Given the description of an element on the screen output the (x, y) to click on. 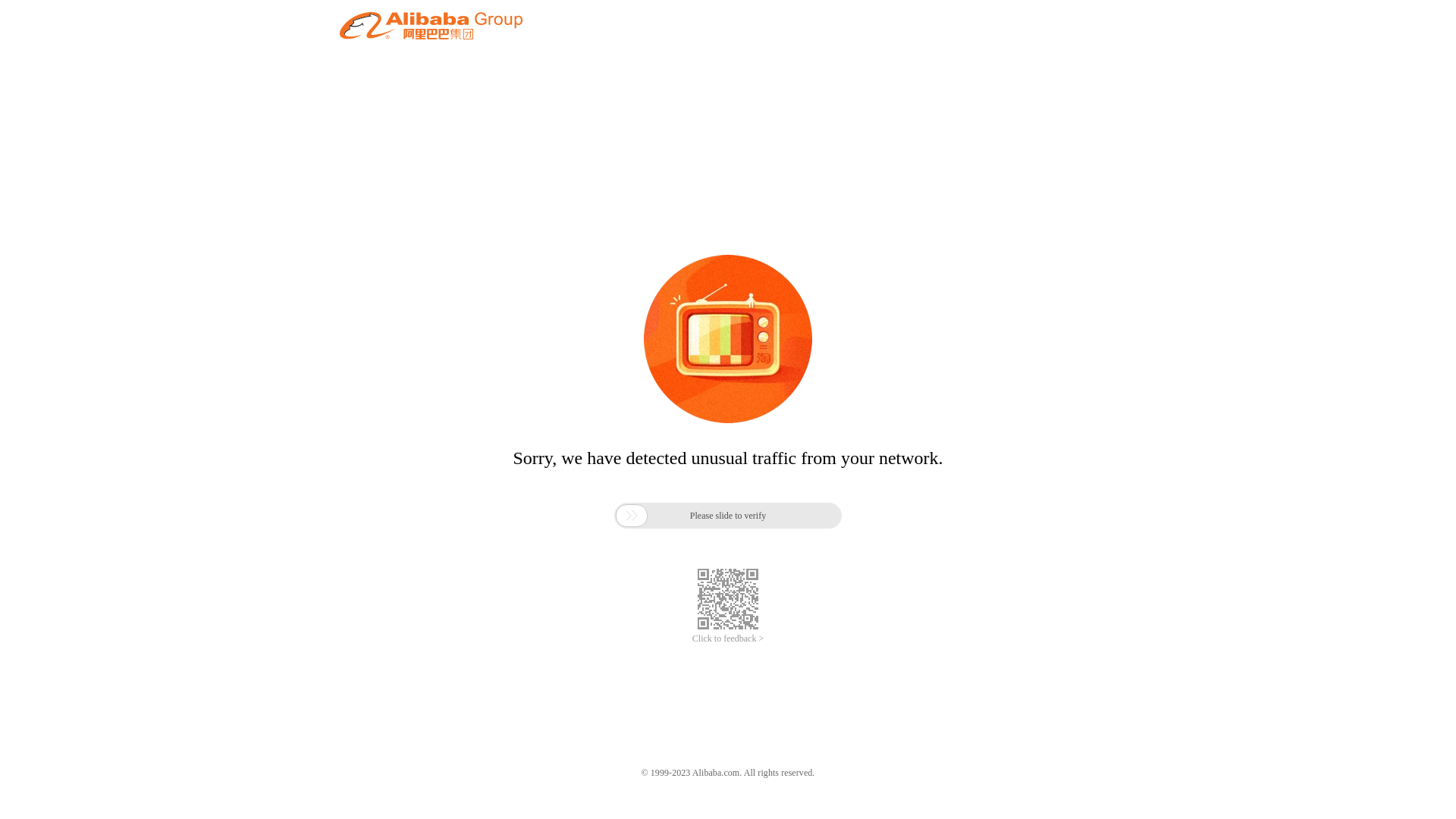
Click to feedback > Element type: text (727, 638)
